Given the description of an element on the screen output the (x, y) to click on. 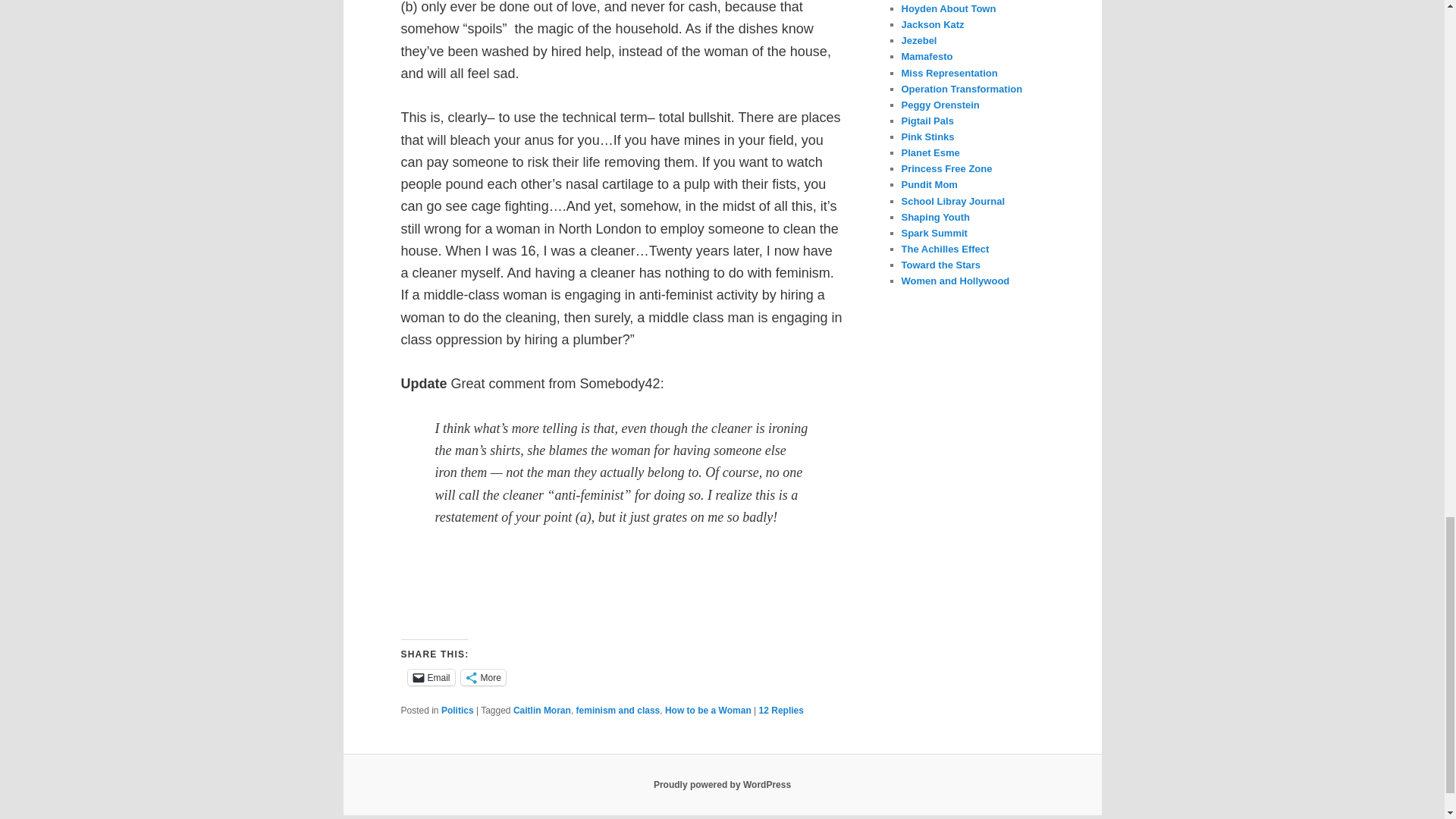
How to be a Woman (708, 710)
12 Replies (780, 710)
Semantic Personal Publishing Platform (721, 784)
Politics (457, 710)
More (483, 677)
Caitlin Moran (541, 710)
Click to email a link to a friend (430, 677)
feminism and class (618, 710)
Email (430, 677)
